Given the description of an element on the screen output the (x, y) to click on. 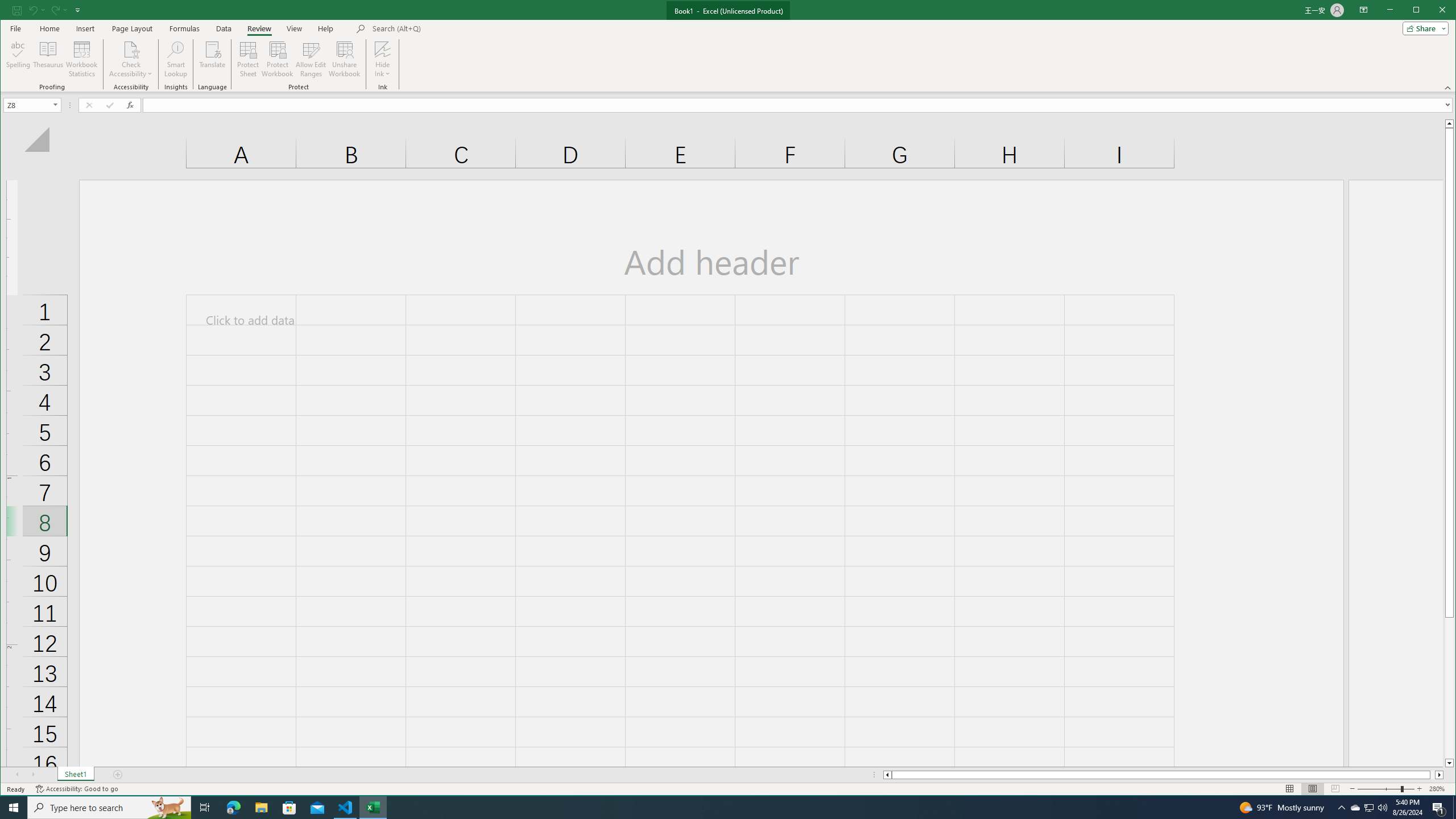
Maximize (1432, 11)
Protect Workbook... (277, 59)
File Explorer (261, 807)
Thesaurus... (48, 59)
Start (13, 807)
